Given the description of an element on the screen output the (x, y) to click on. 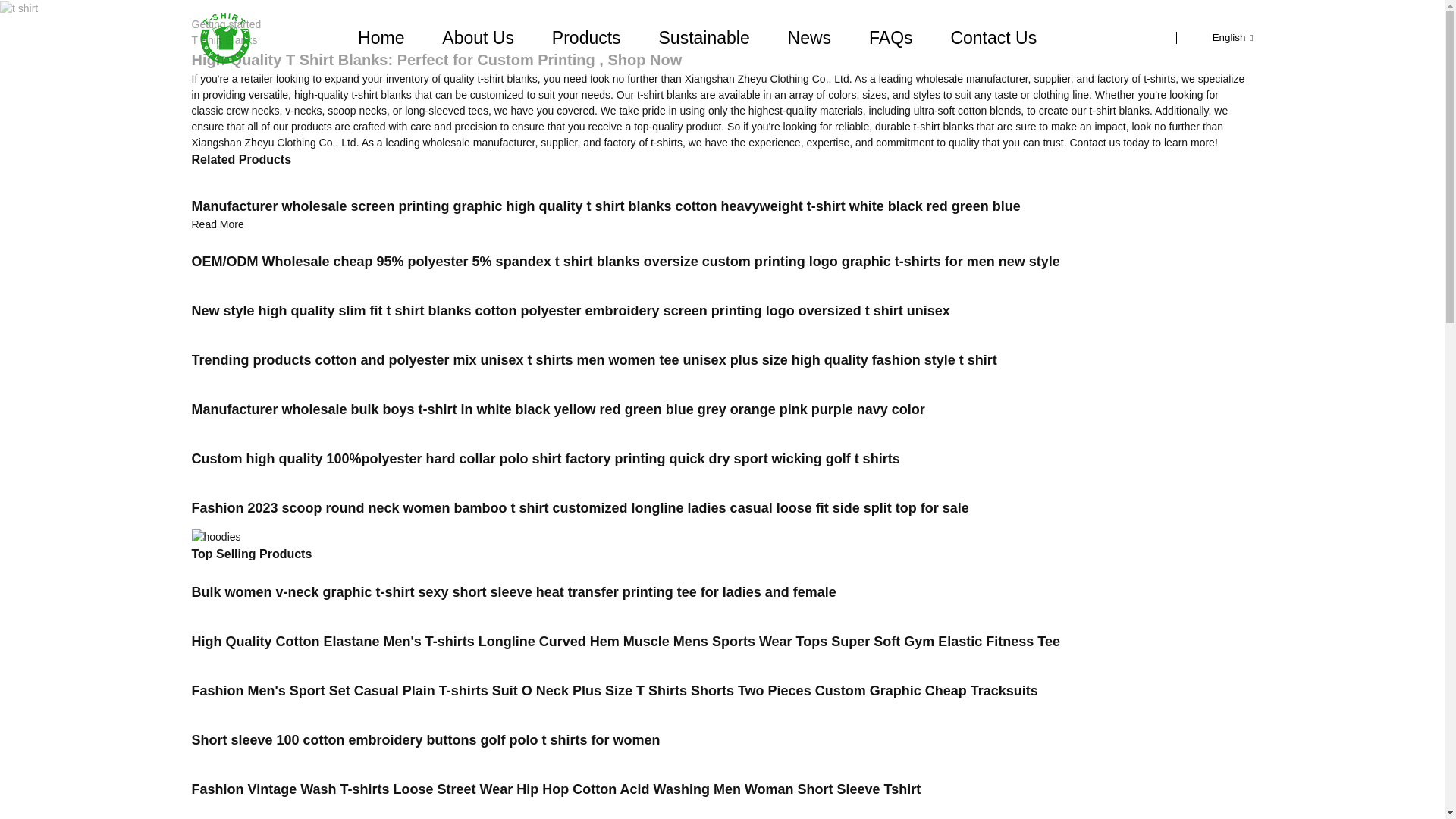
Contact Us (993, 37)
News (809, 37)
English (1220, 37)
Getting started (225, 24)
Read More (216, 224)
Home (380, 37)
T Shirt Blanks (223, 39)
Sustainable (704, 37)
FAQs (891, 37)
